Given the description of an element on the screen output the (x, y) to click on. 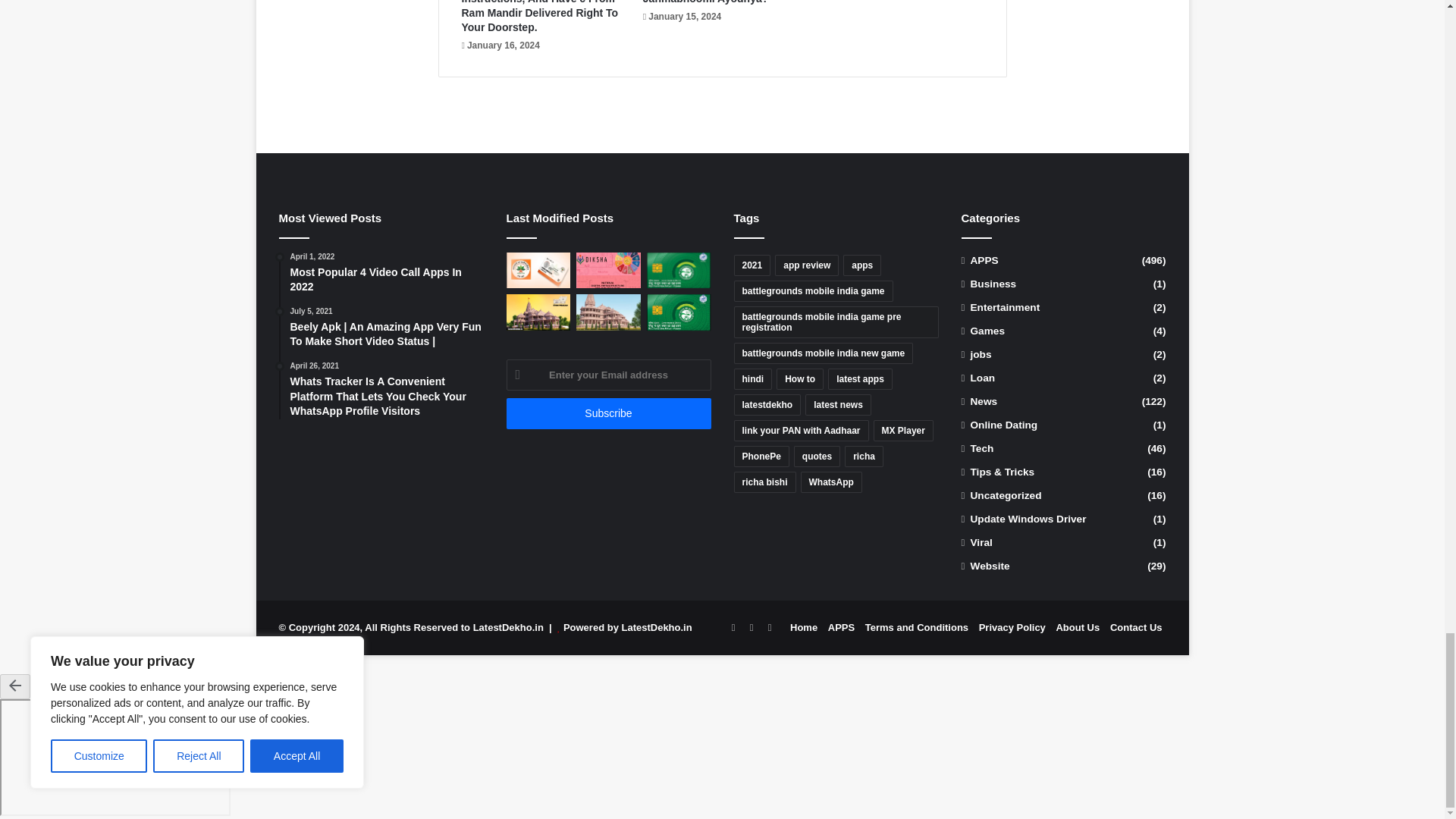
Subscribe (608, 413)
